Given the description of an element on the screen output the (x, y) to click on. 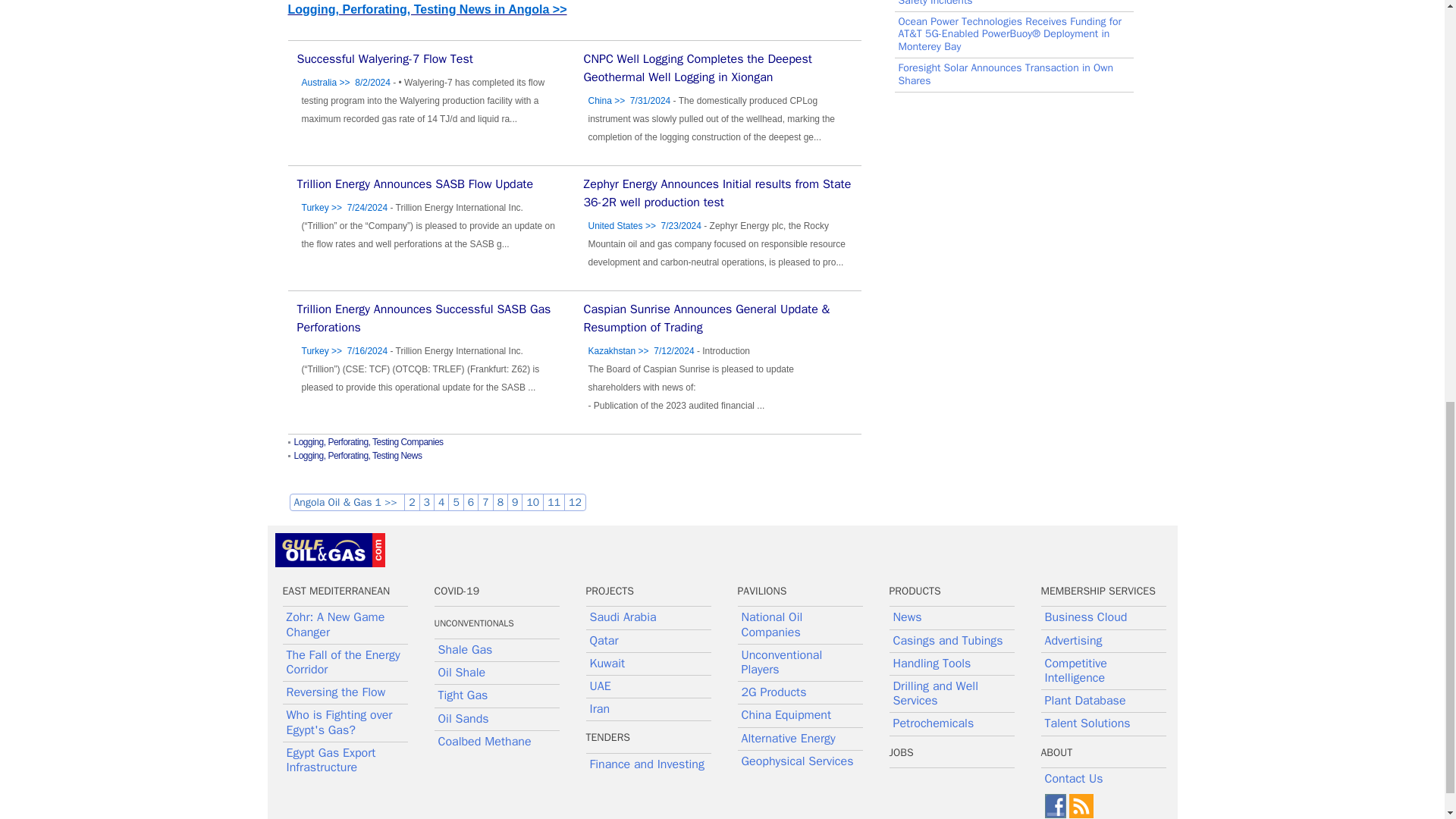
Trillion Energy Announces SASB Flow Update (415, 183)
Logging, Perforating, Testing News (358, 455)
Logging, Perforating, Testing Companies (369, 441)
Successful Walyering-7 Flow Test (385, 58)
Trillion Energy Announces Successful SASB Gas Perforations (424, 318)
